Given the description of an element on the screen output the (x, y) to click on. 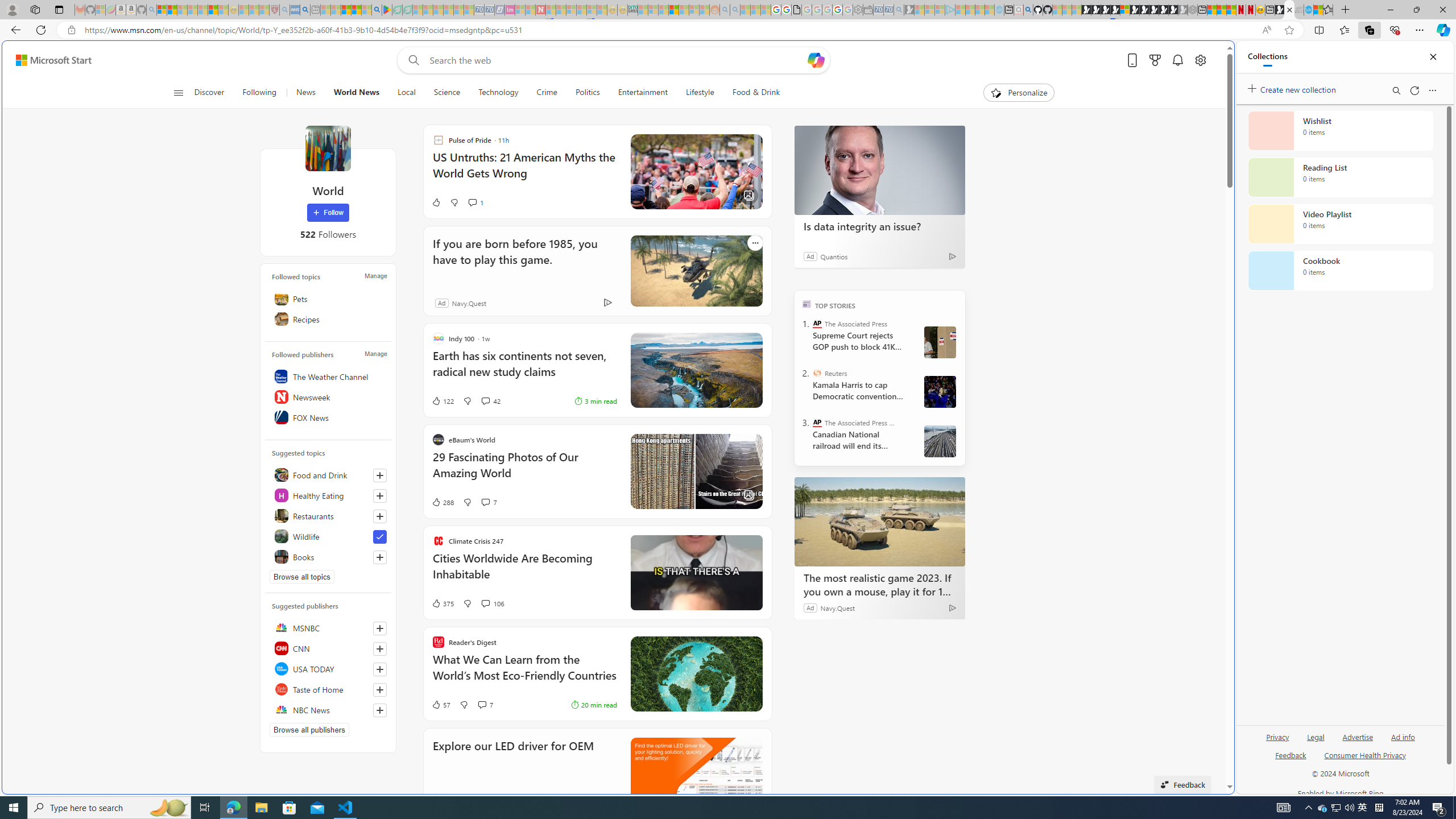
Food and Drink (327, 474)
Recipes (327, 318)
